Given the description of an element on the screen output the (x, y) to click on. 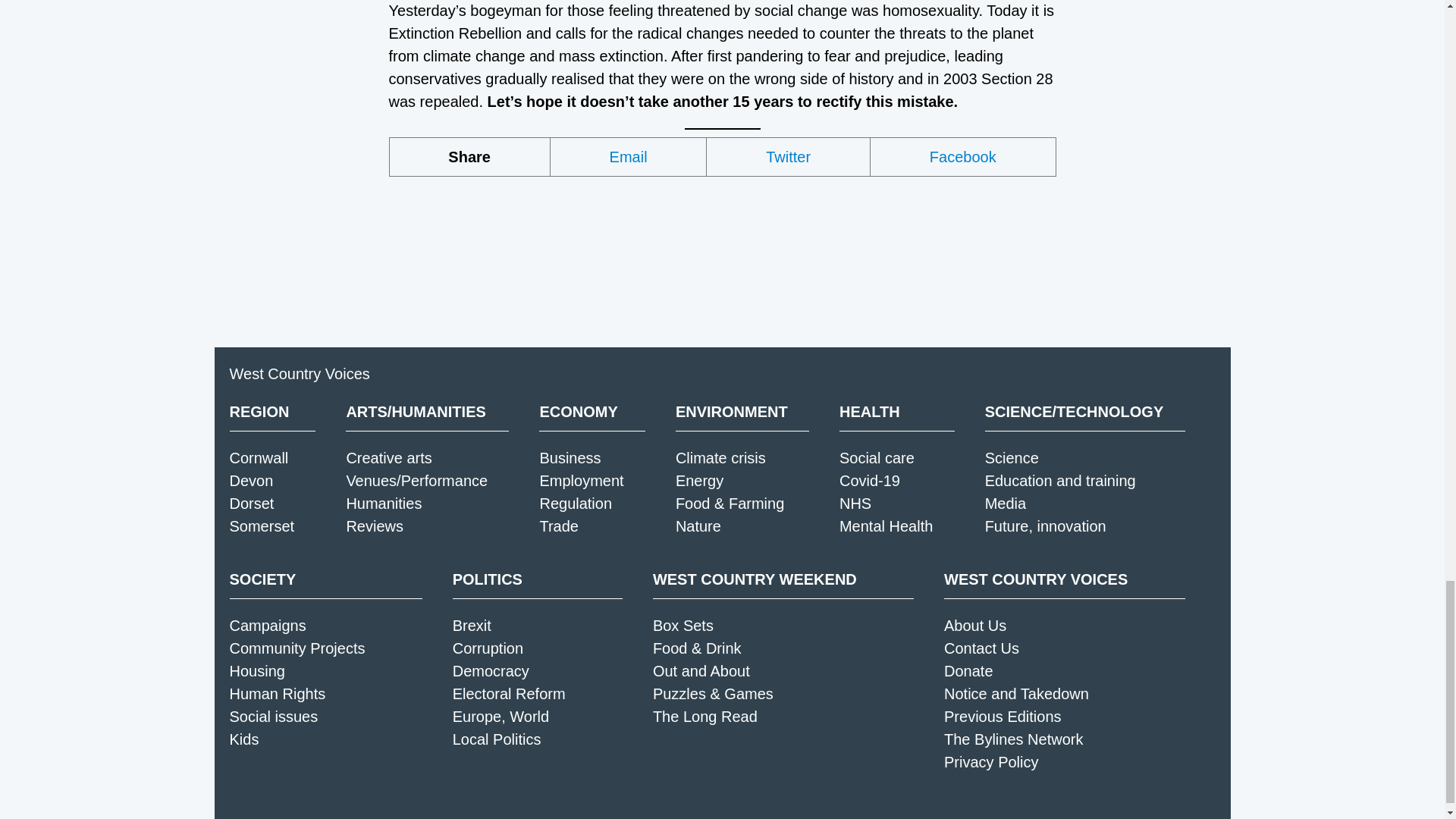
Email (628, 157)
Somerset (261, 525)
Cornwall (258, 457)
Dorset (250, 503)
REGION (271, 411)
Twitter (788, 157)
Reviews (374, 525)
Devon (250, 480)
Creative arts (388, 457)
Humanities (384, 503)
